Given the description of an element on the screen output the (x, y) to click on. 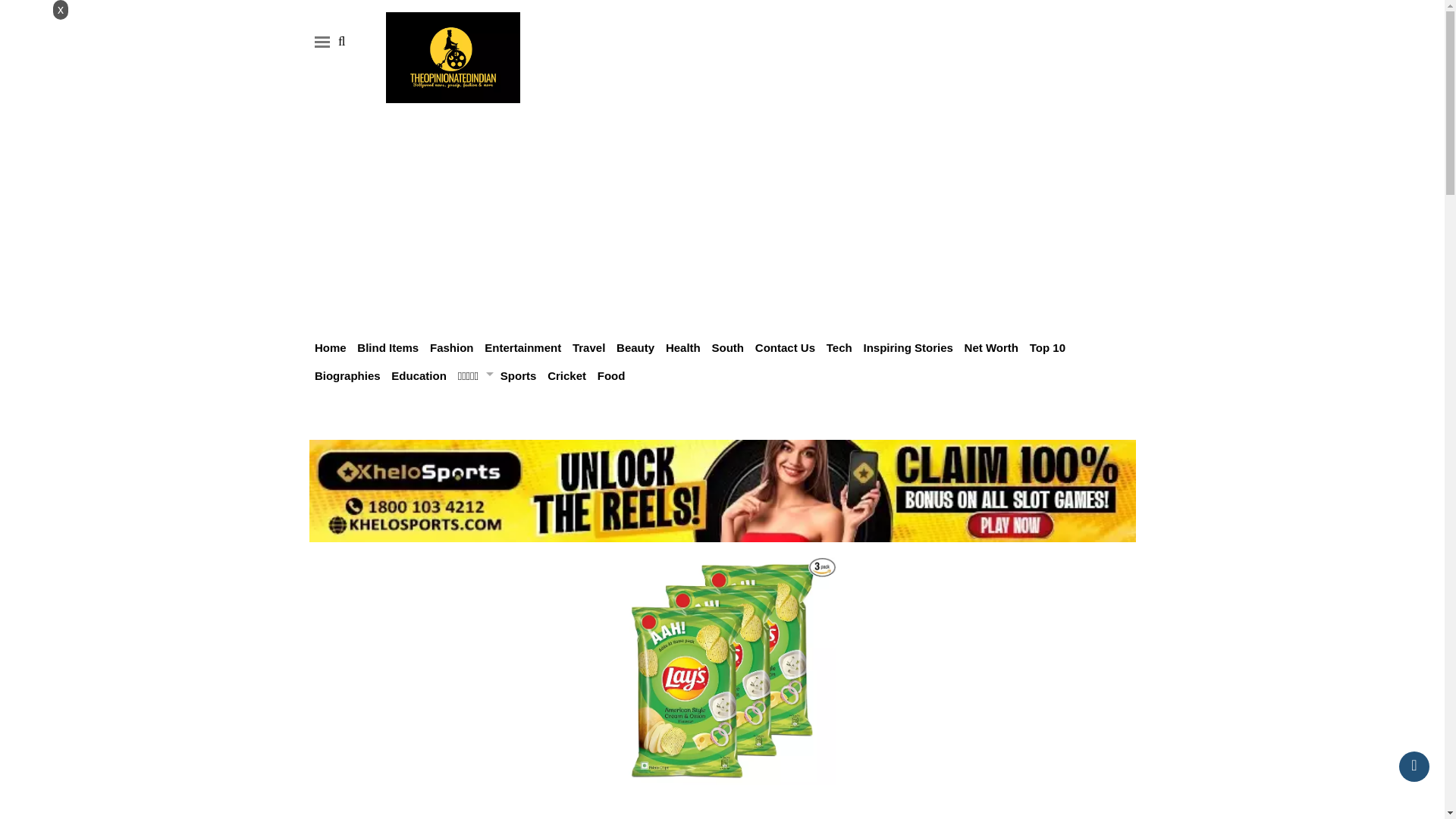
3rd party ad content (843, 61)
Travel (588, 347)
Net Worth (990, 347)
Contact Us (785, 347)
Inspiring Stories (907, 347)
Health (682, 347)
South (727, 347)
Entertainment (522, 347)
Biographies (347, 375)
